Given the description of an element on the screen output the (x, y) to click on. 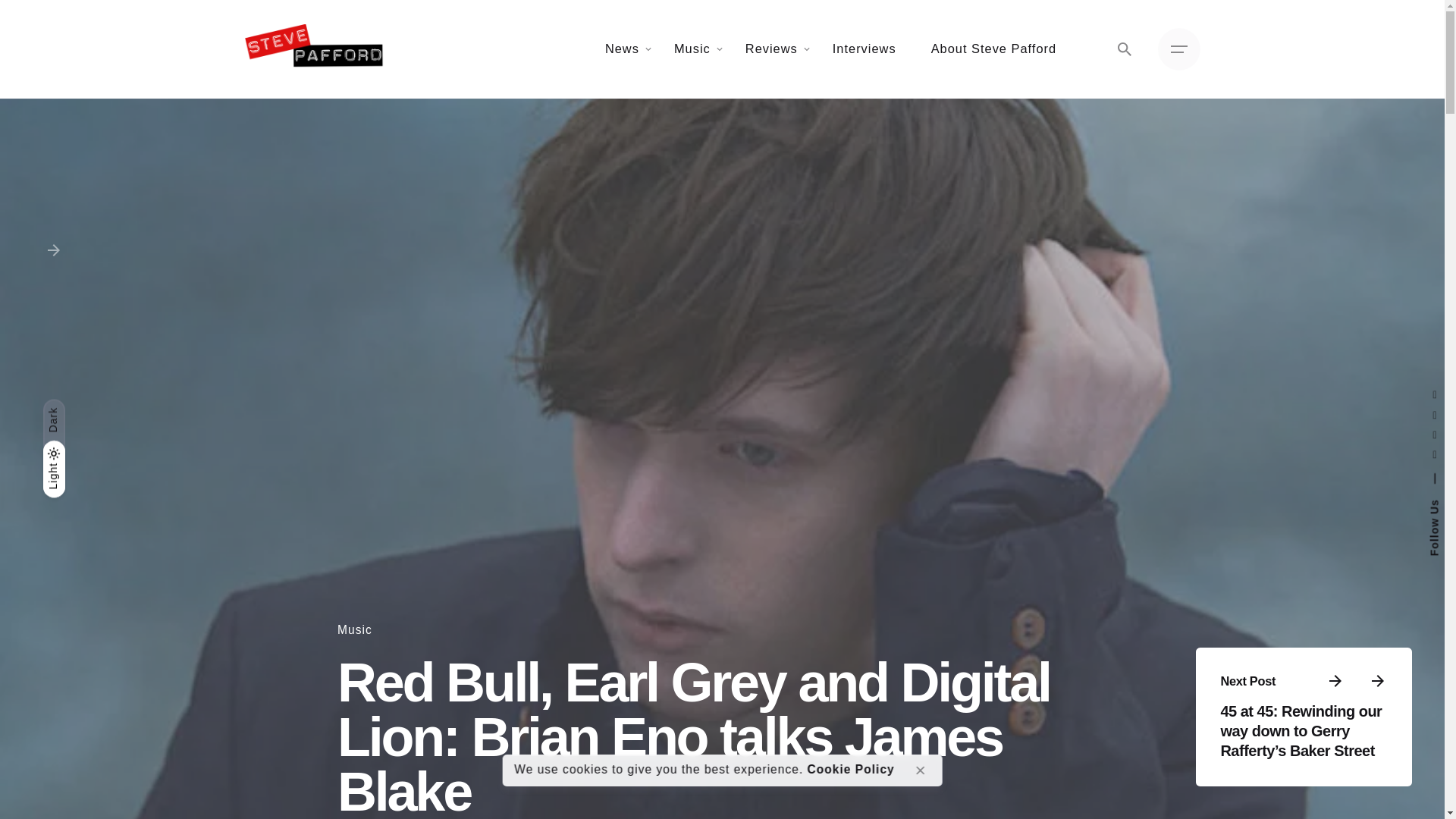
About Steve Pafford (994, 49)
Reviews (771, 49)
News (622, 49)
Interviews (864, 49)
Music (692, 49)
